Given the description of an element on the screen output the (x, y) to click on. 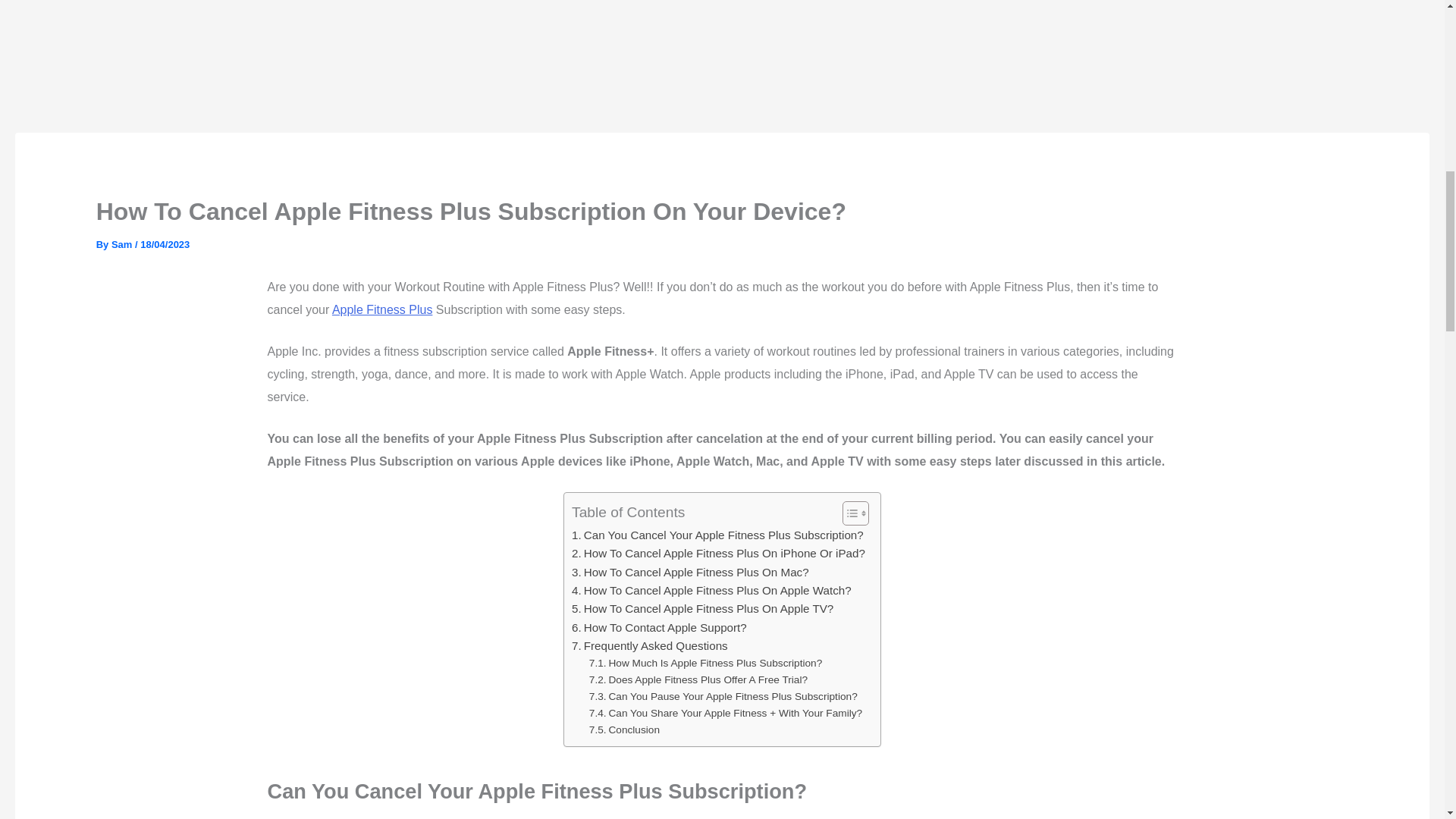
Can You Pause Your Apple Fitness Plus Subscription? (723, 696)
Conclusion (624, 729)
Does Apple Fitness Plus Offer A Free Trial? (698, 679)
Can You Cancel Your Apple Fitness Plus Subscription? (717, 535)
How To Cancel Apple Fitness Plus On Apple TV? (702, 608)
How To Cancel Apple Fitness Plus On Apple Watch? (711, 590)
How To Cancel Apple Fitness Plus On iPhone Or iPad? (718, 553)
How To Contact Apple Support? (659, 628)
How To Cancel Apple Fitness Plus On Apple Watch? (711, 590)
View all posts by Sam (123, 244)
